Given the description of an element on the screen output the (x, y) to click on. 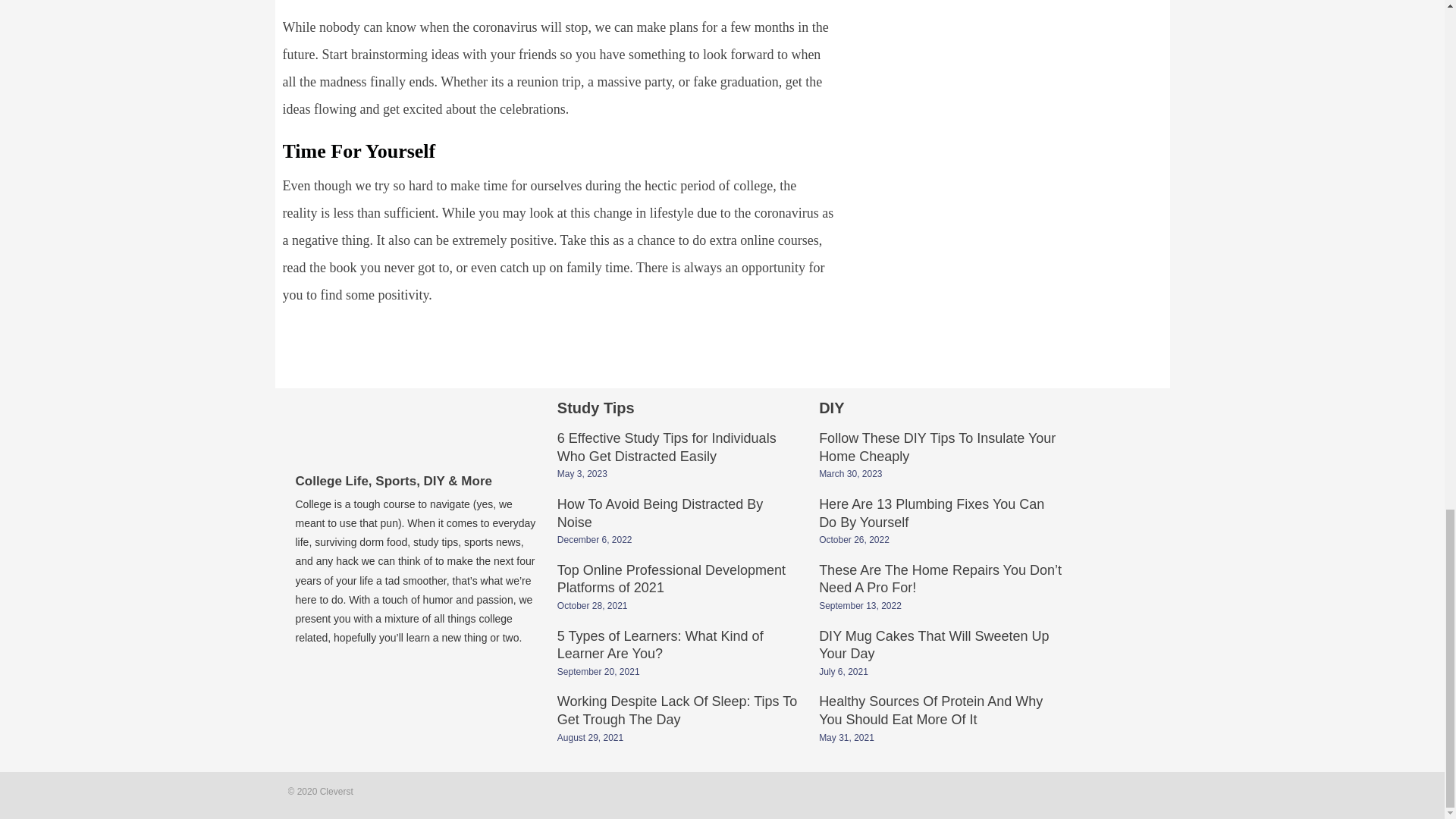
Healthy Sources Of Protein And Why You Should Eat More Of It (930, 711)
Top Online Professional Development Platforms of 2021 (671, 580)
Working Despite Lack Of Sleep: Tips To Get Trough The Day (677, 711)
5 Types of Learners: What Kind of Learner Are You? (659, 646)
DIY Mug Cakes That Will Sweeten Up Your Day (933, 646)
How To Avoid Being Distracted By Noise (659, 514)
Follow These DIY Tips To Insulate Your Home Cheaply (936, 448)
Here Are 13 Plumbing Fixes You Can Do By Yourself (930, 514)
